Given the description of an element on the screen output the (x, y) to click on. 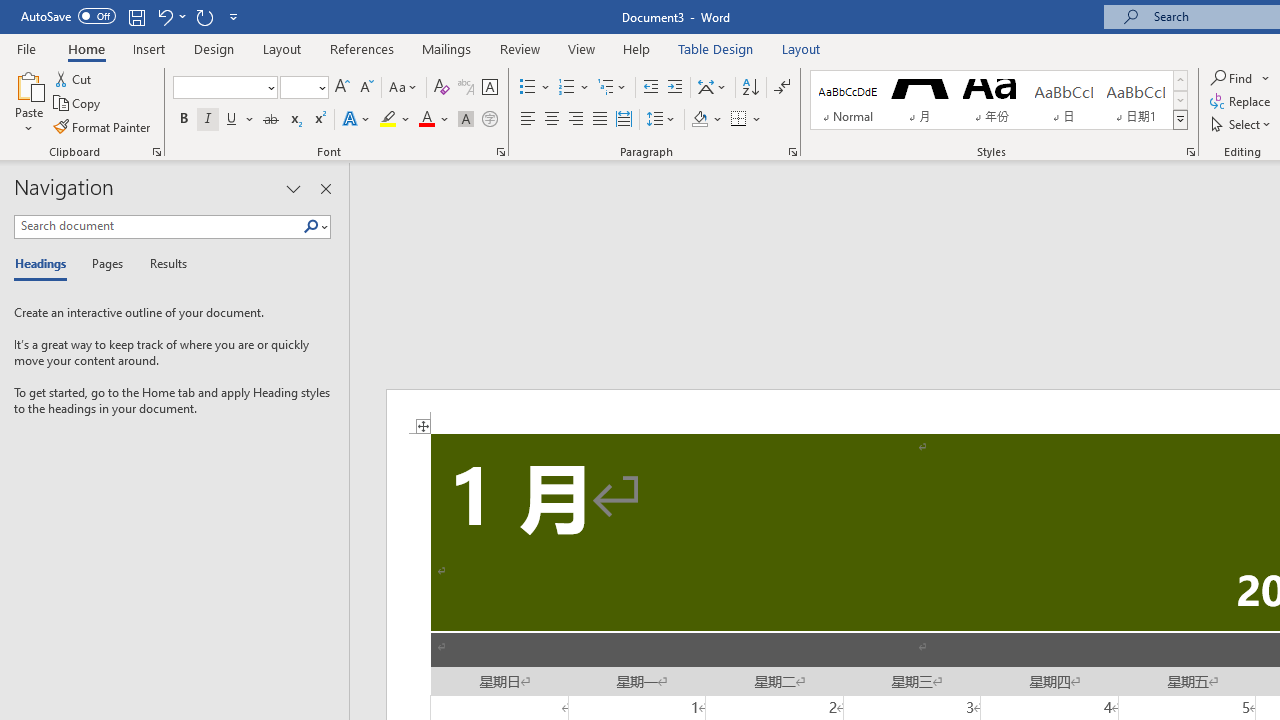
Repeat Italic (204, 15)
Character Border (489, 87)
Superscript (319, 119)
Distributed (623, 119)
Strikethrough (270, 119)
